Given the description of an element on the screen output the (x, y) to click on. 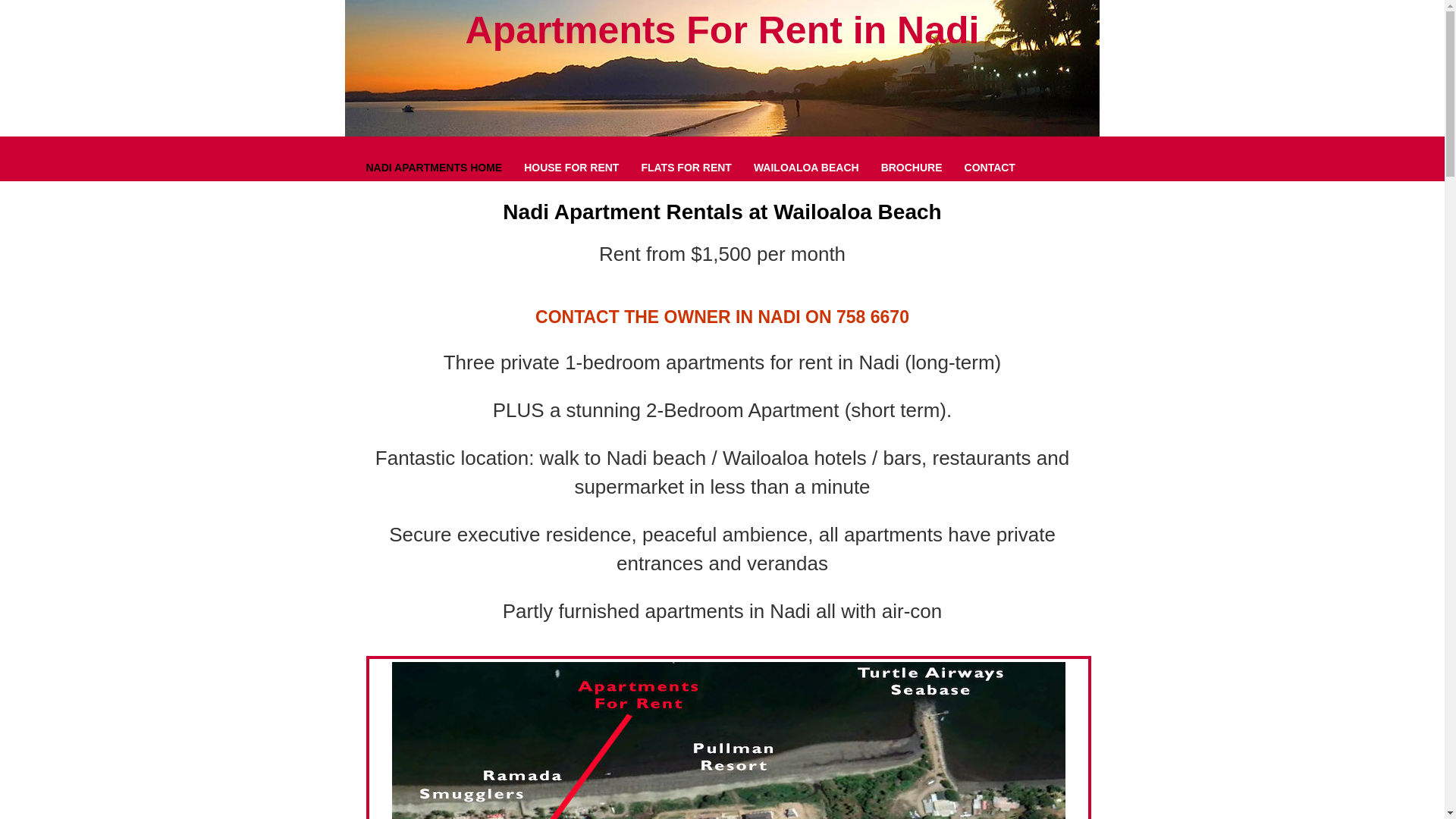
BROCHURE (911, 167)
HOUSE FOR RENT (571, 167)
WAILOALOA BEACH (806, 167)
NADI APARTMENTS HOME (433, 167)
CONTACT (988, 167)
FLATS FOR RENT (686, 167)
